Given the description of an element on the screen output the (x, y) to click on. 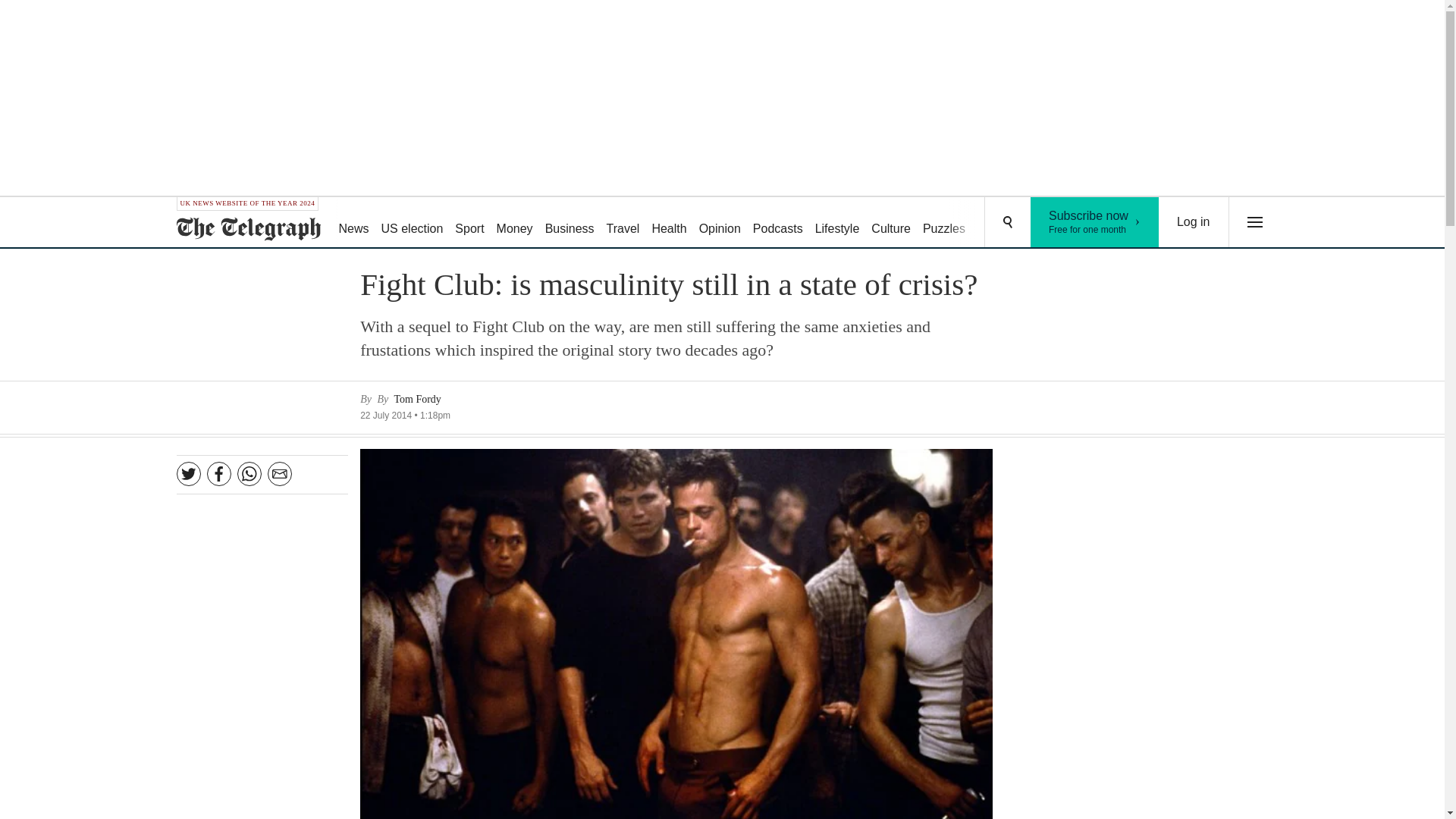
Culture (890, 223)
US election (412, 223)
Puzzles (944, 223)
Money (1094, 222)
Business (514, 223)
Travel (568, 223)
Opinion (622, 223)
Health (719, 223)
Log in (669, 223)
Podcasts (1193, 222)
Lifestyle (777, 223)
